Given the description of an element on the screen output the (x, y) to click on. 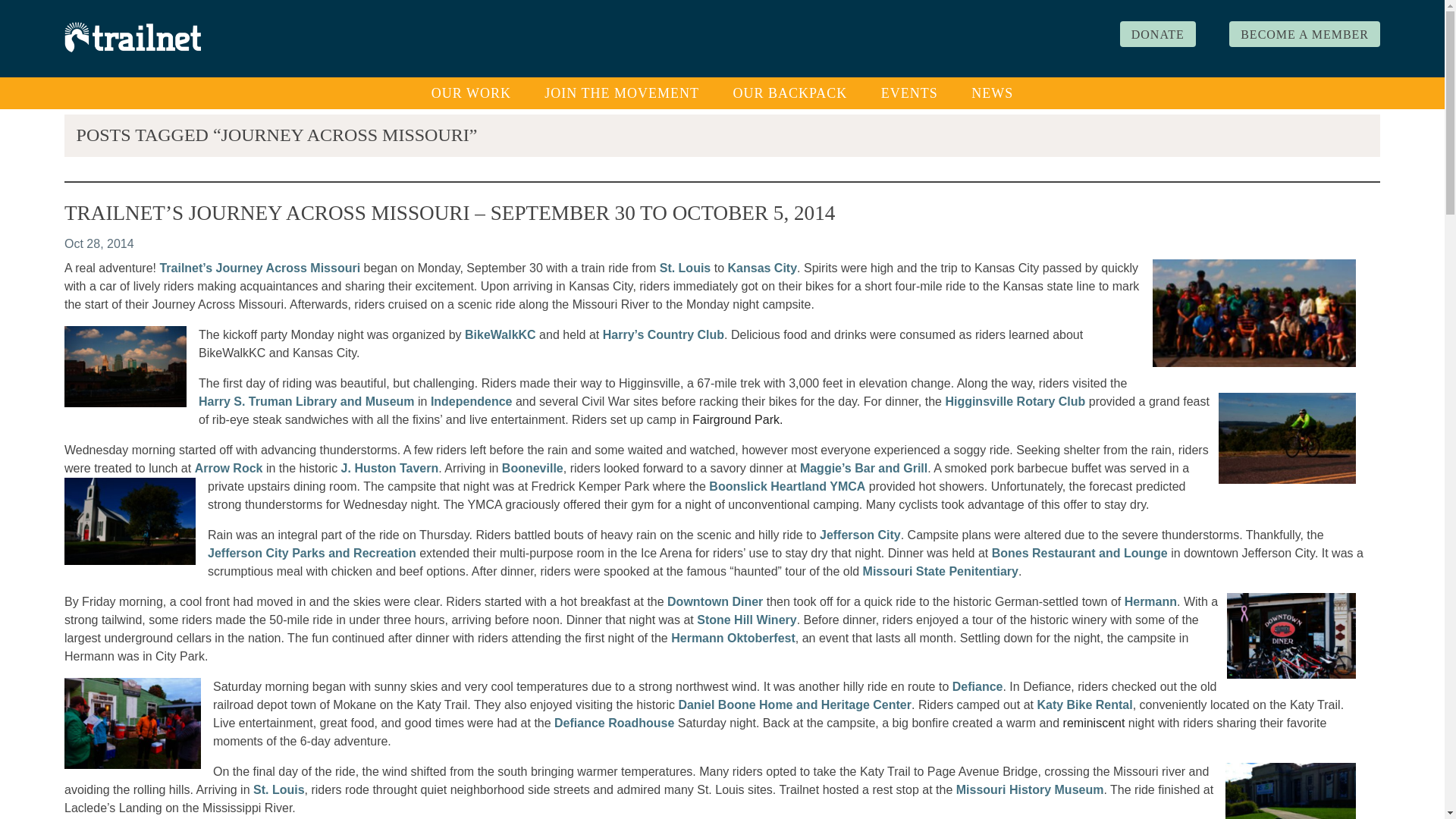
DONATE (1157, 33)
OUR BACKPACK (789, 92)
JOIN THE MOVEMENT (621, 92)
BECOME A MEMBER (1304, 33)
OUR WORK (470, 92)
